Given the description of an element on the screen output the (x, y) to click on. 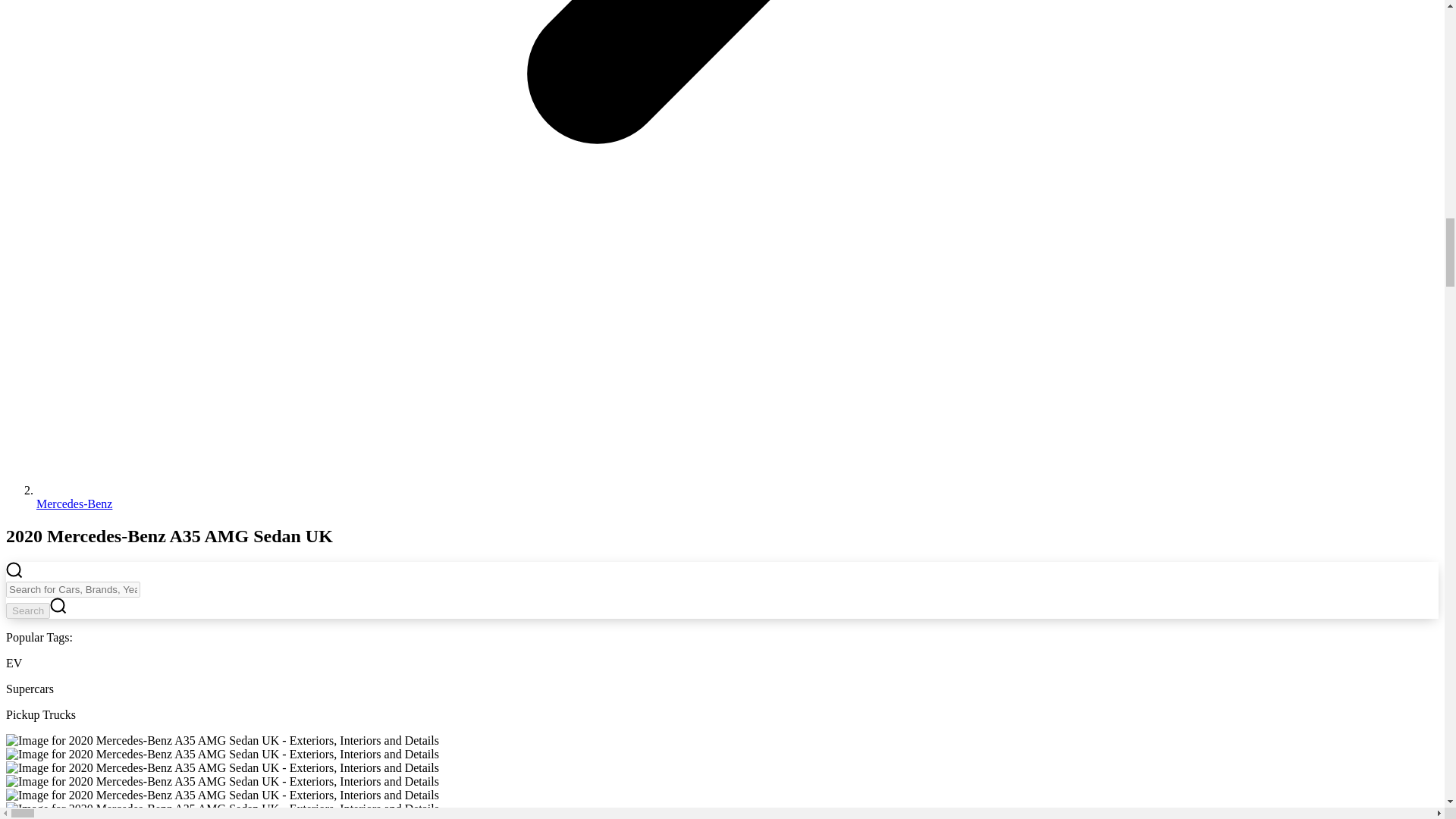
Mercedes-Benz (74, 503)
Search (27, 610)
